Given the description of an element on the screen output the (x, y) to click on. 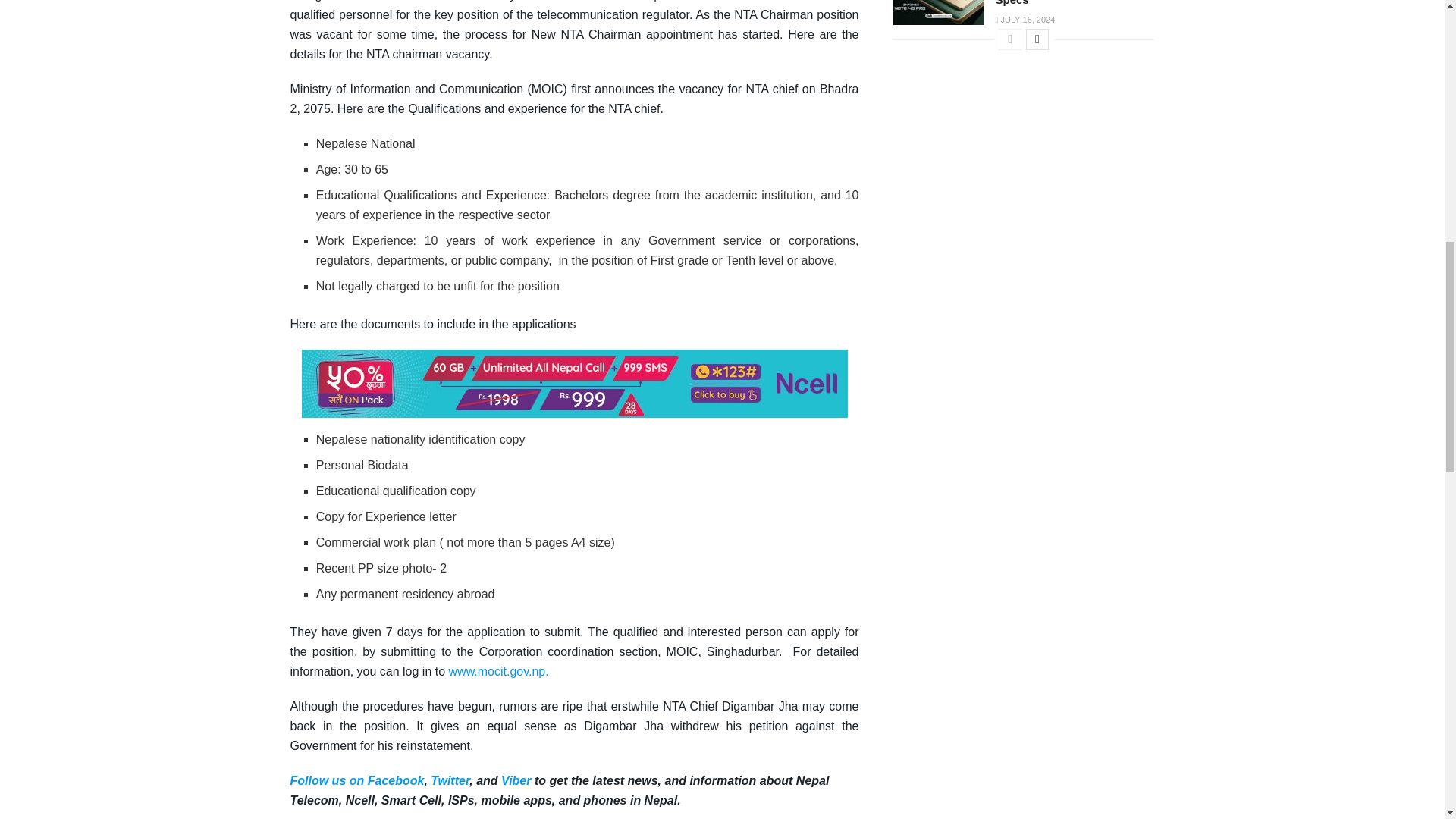
Next (1037, 38)
Previous (1010, 38)
